Given the description of an element on the screen output the (x, y) to click on. 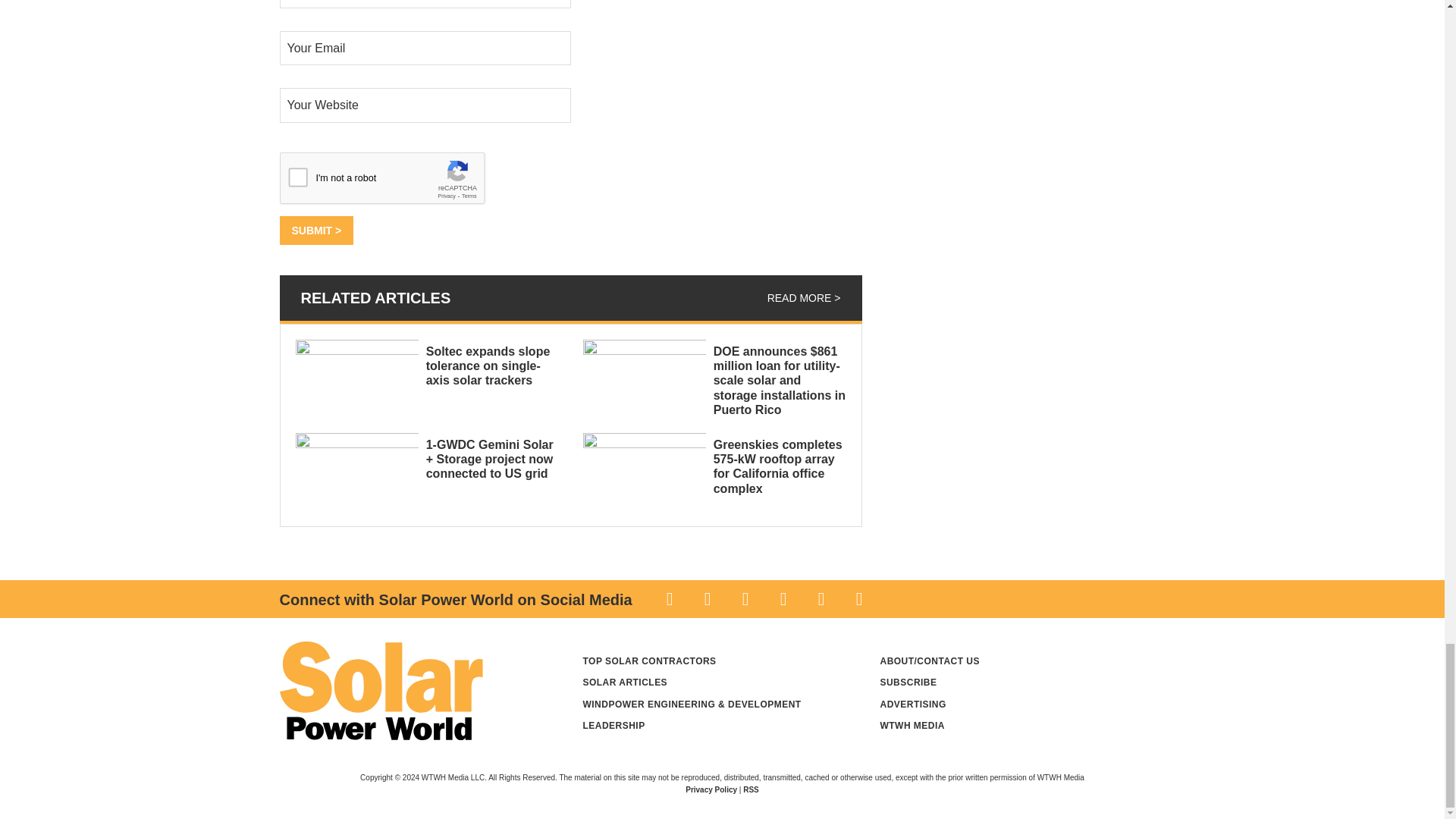
reCAPTCHA (394, 181)
